Given the description of an element on the screen output the (x, y) to click on. 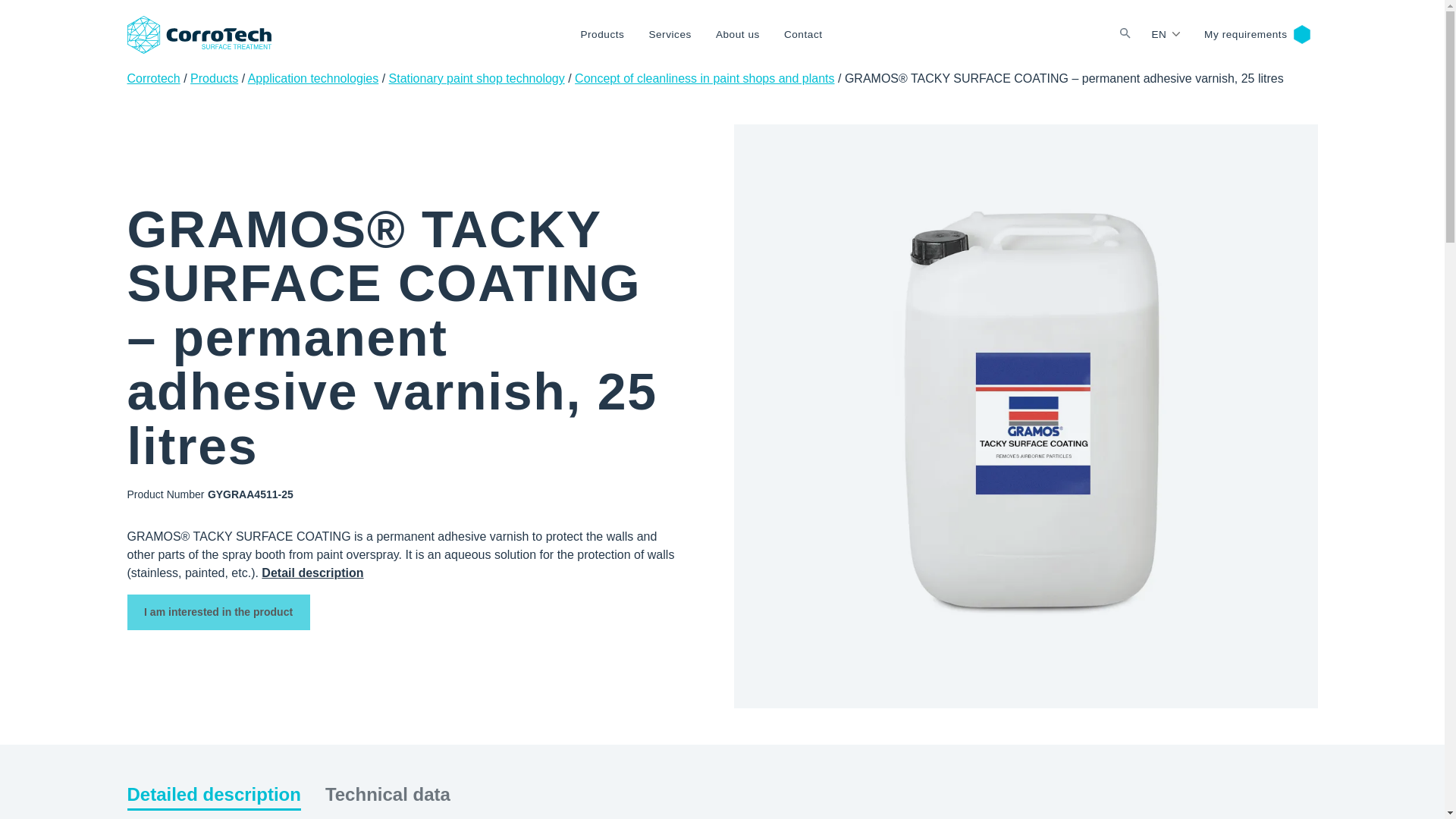
My requirements (1245, 34)
I am interested in the product (219, 611)
About us (737, 34)
Technical data (386, 794)
Go to Corrotech. (154, 78)
Detail description (312, 572)
Products (601, 34)
Go to the Application technologies Category archives. (312, 78)
EN (1165, 34)
